Given the description of an element on the screen output the (x, y) to click on. 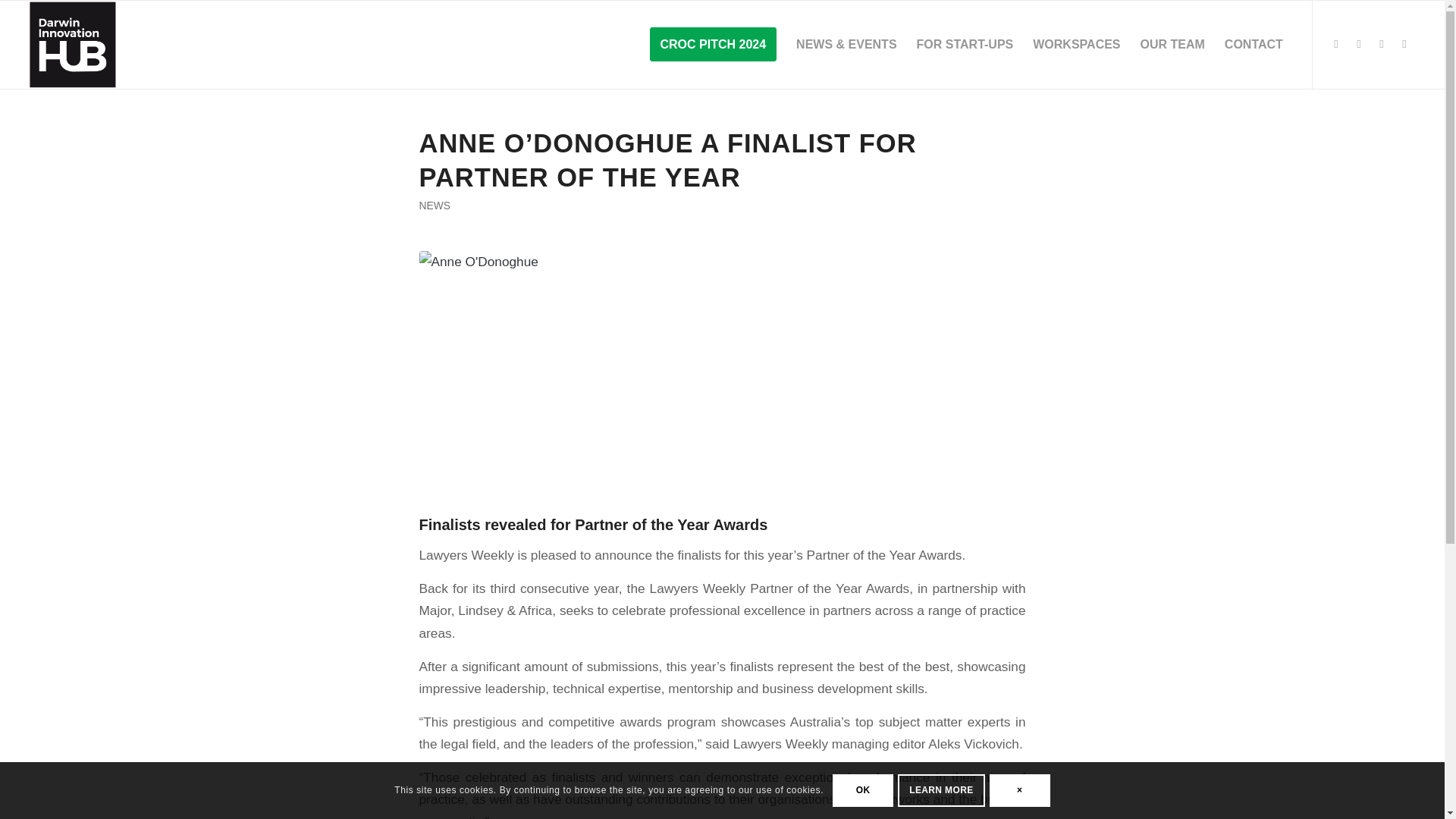
DIH-SliderArtboard 16 (72, 44)
Instagram (1359, 43)
CROC PITCH 2024 (713, 44)
WORKSPACES (1076, 44)
anne o'donoghue (722, 357)
LinkedIn (1381, 43)
FOR START-UPS (965, 44)
OUR TEAM (1172, 44)
X (1404, 43)
NEWS (434, 205)
Facebook (1336, 43)
